Given the description of an element on the screen output the (x, y) to click on. 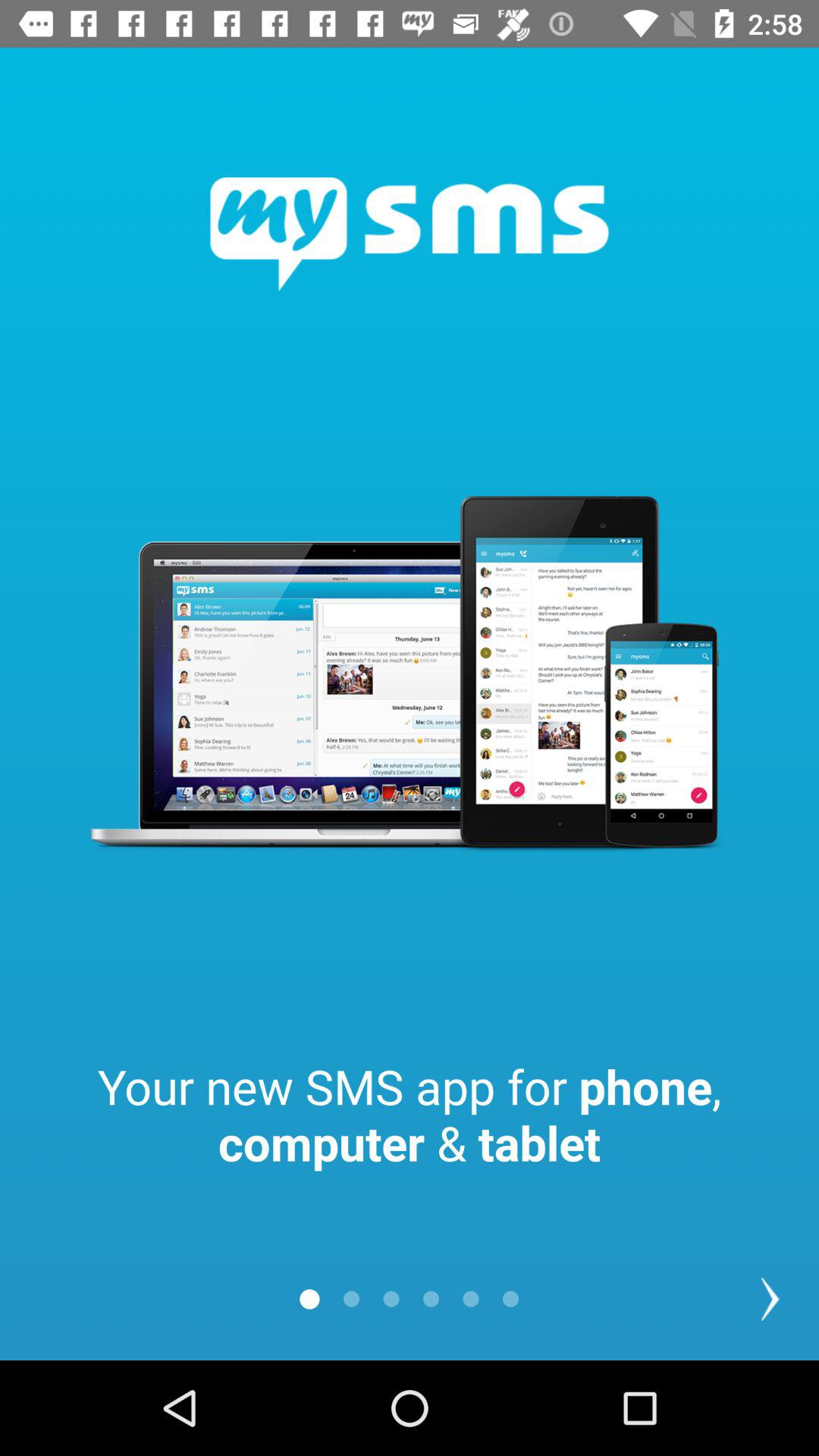
tap the item at the bottom right corner (769, 1299)
